Given the description of an element on the screen output the (x, y) to click on. 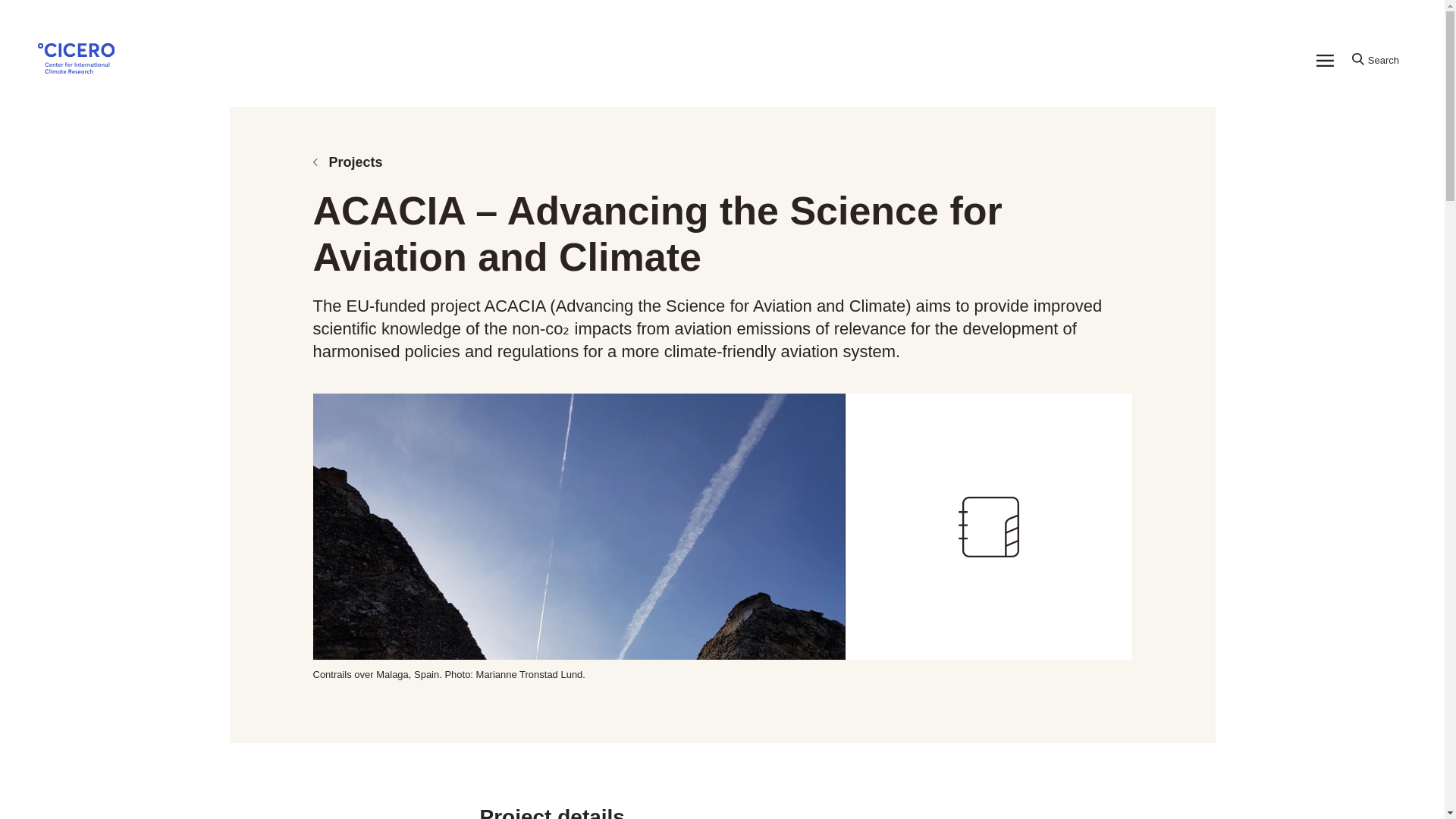
Search (1374, 60)
Projects (722, 162)
